Given the description of an element on the screen output the (x, y) to click on. 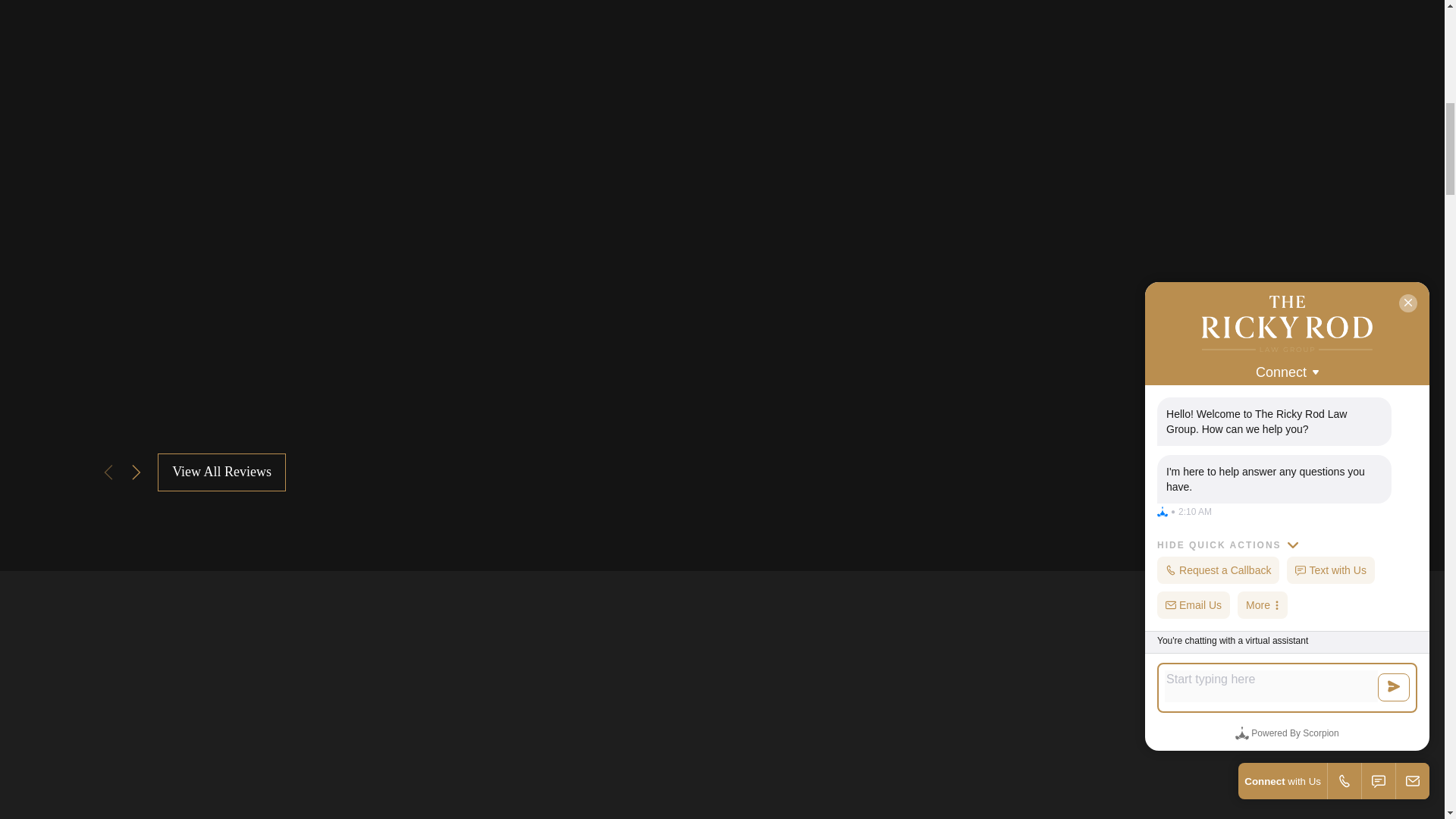
View next item (136, 472)
View previous item (108, 472)
